Given the description of an element on the screen output the (x, y) to click on. 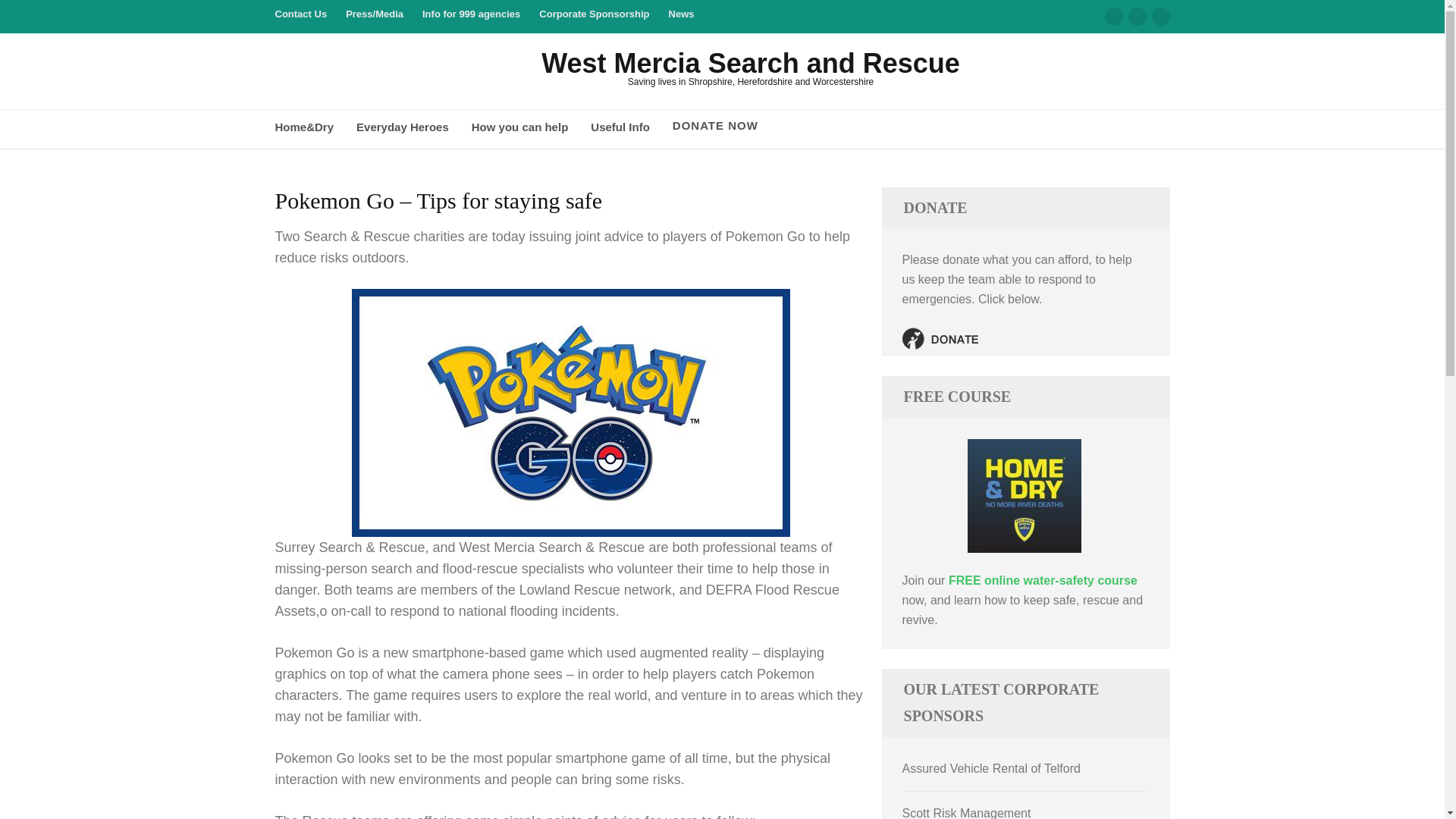
Contact Us (300, 20)
Info for 999 agencies (470, 20)
twitter (1160, 16)
facebook (1112, 16)
instagram (1137, 16)
